Given the description of an element on the screen output the (x, y) to click on. 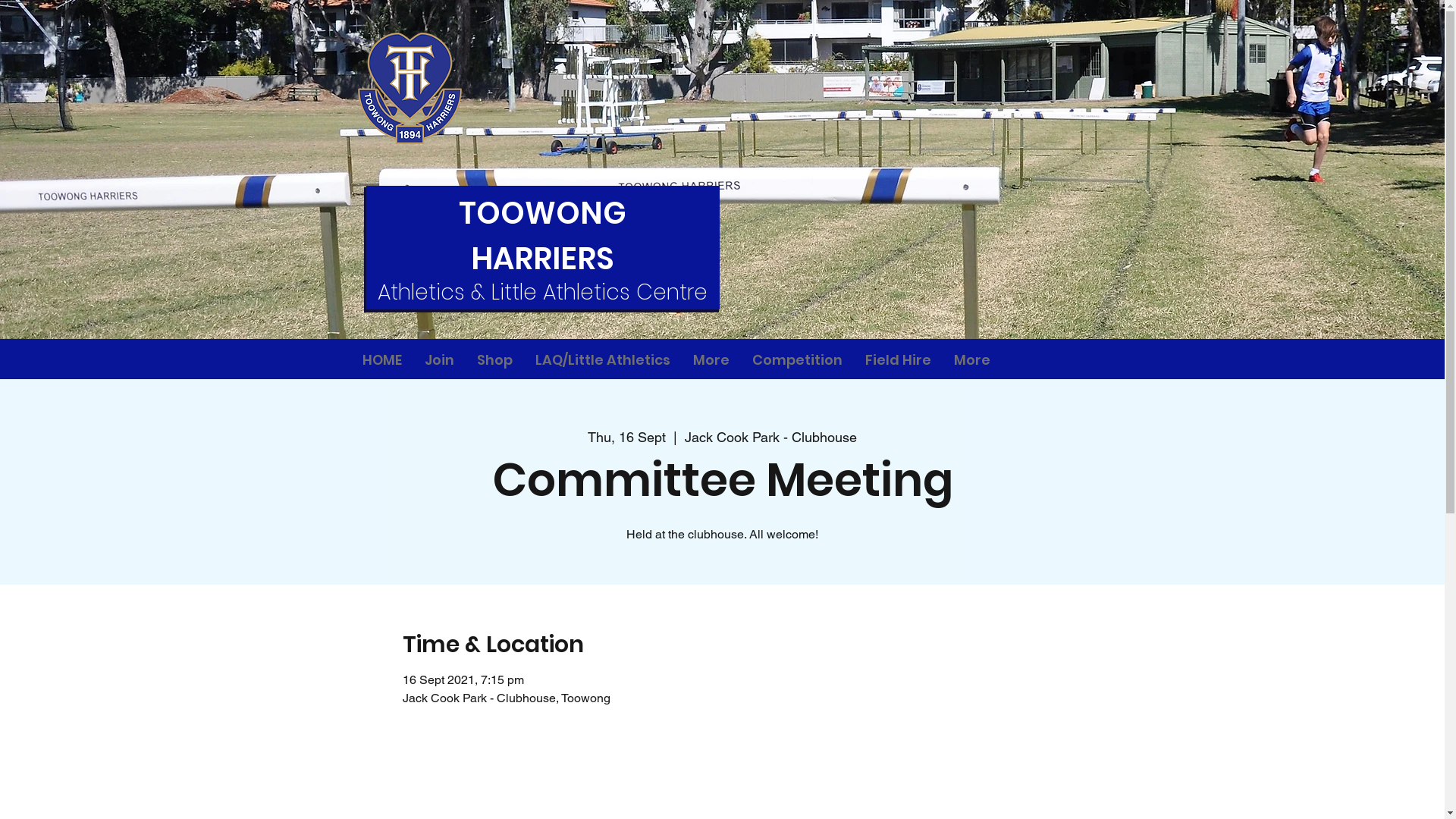
HOME Element type: text (381, 360)
Join Element type: text (438, 360)
Shop Element type: text (494, 360)
Field Hire Element type: text (897, 360)
LAQ/Little Athletics Element type: text (601, 360)
Athletics & Little Athletics Centre Element type: text (542, 292)
Competition Element type: text (796, 360)
More Element type: text (710, 360)
TOOWONG HARRIERS Element type: text (542, 235)
